Given the description of an element on the screen output the (x, y) to click on. 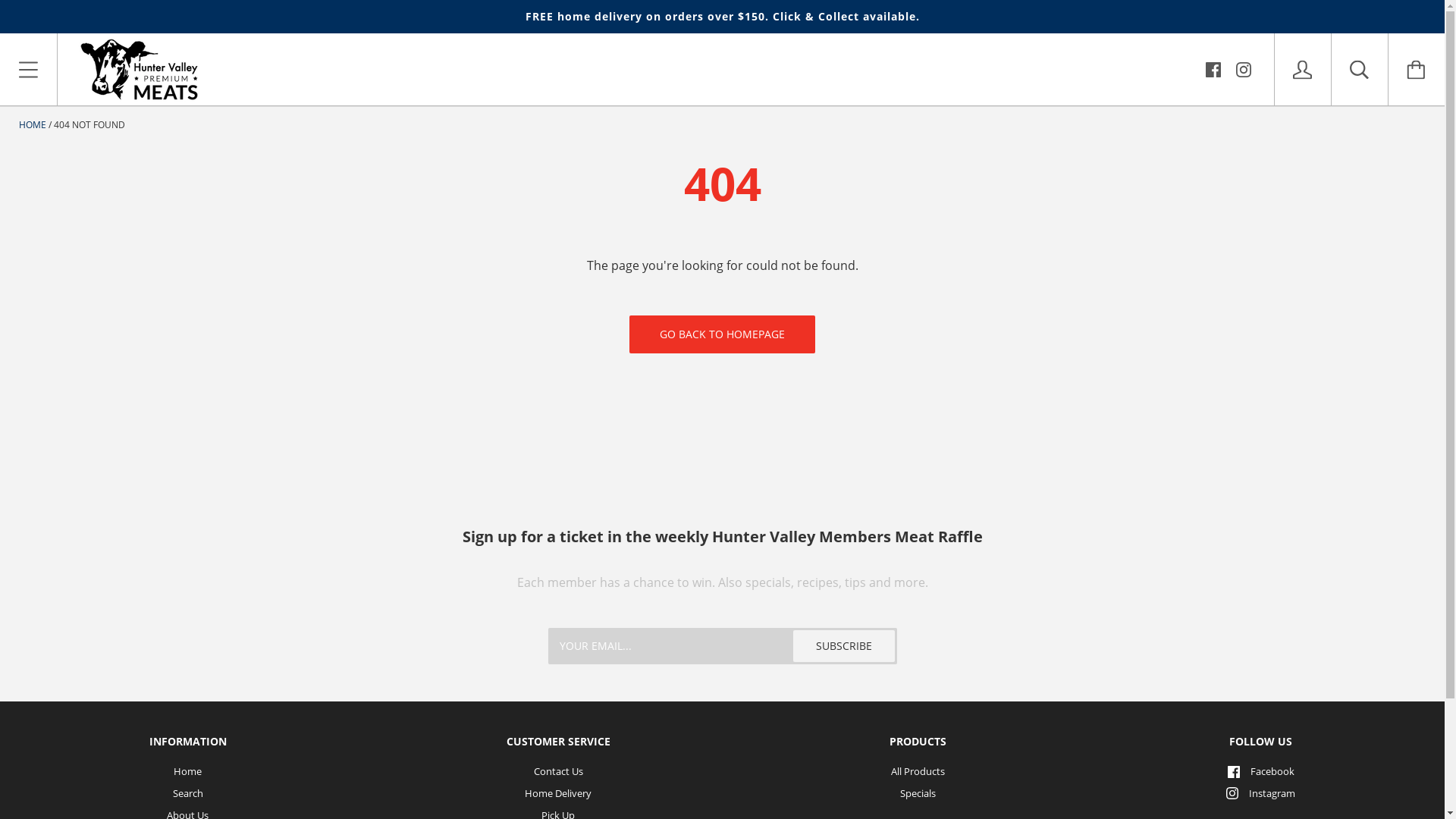
Instagram Instagram Element type: text (1260, 793)
HOME Element type: text (32, 124)
Specials Element type: text (917, 793)
Home Element type: text (187, 771)
Contact Us Element type: text (558, 771)
Home Delivery Element type: text (557, 793)
Facebook Facebook Element type: text (1260, 771)
Subscribe Element type: text (843, 646)
Search Element type: text (187, 793)
GO BACK TO HOMEPAGE Element type: text (722, 334)
All Products Element type: text (917, 771)
